Given the description of an element on the screen output the (x, y) to click on. 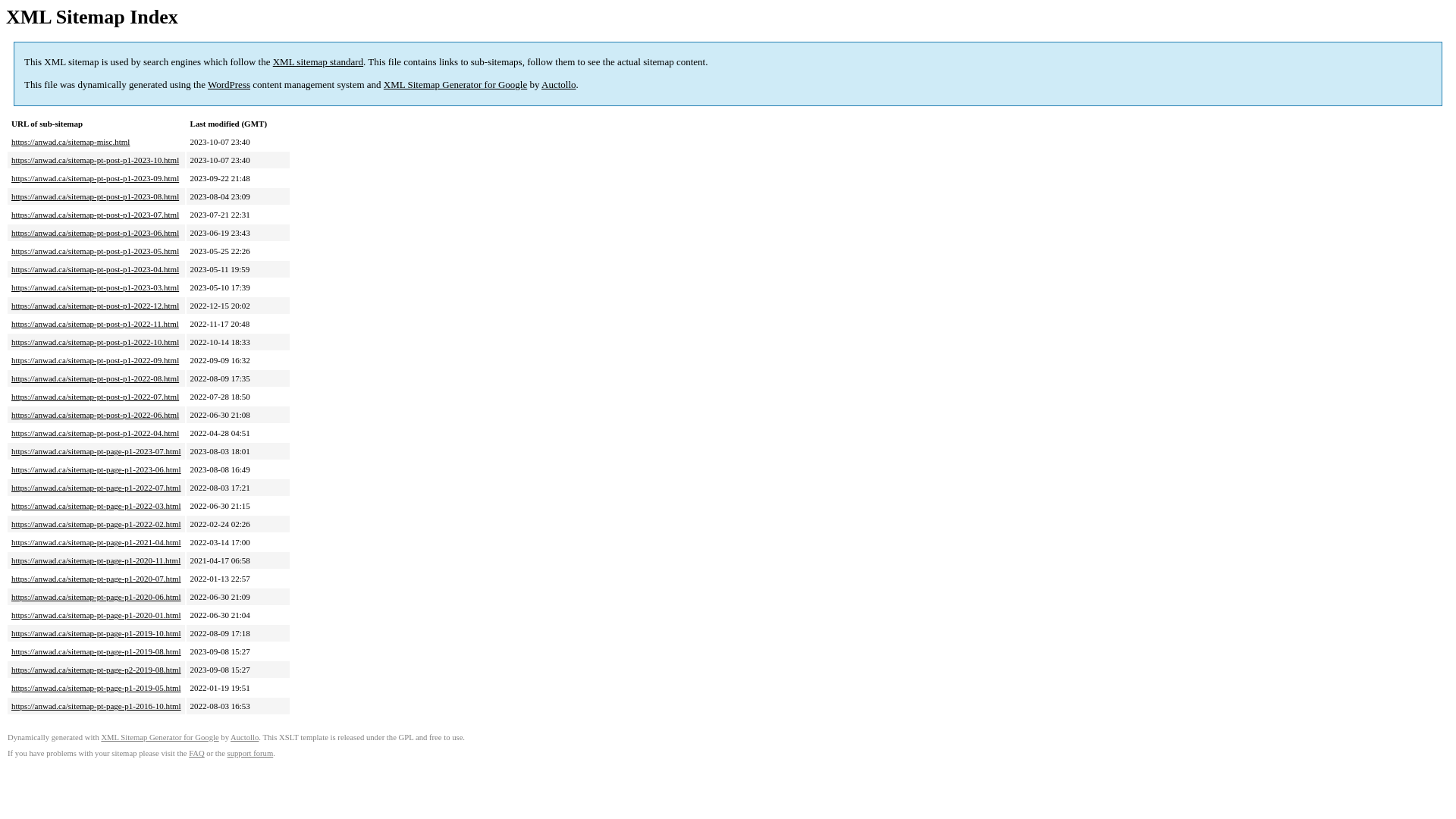
https://anwad.ca/sitemap-pt-page-p1-2021-04.html Element type: text (96, 541)
https://anwad.ca/sitemap-pt-page-p1-2020-07.html Element type: text (96, 578)
https://anwad.ca/sitemap-pt-post-p1-2022-09.html Element type: text (94, 359)
https://anwad.ca/sitemap-pt-post-p1-2023-08.html Element type: text (94, 195)
https://anwad.ca/sitemap-pt-page-p1-2022-02.html Element type: text (96, 523)
https://anwad.ca/sitemap-pt-page-p1-2019-08.html Element type: text (96, 650)
https://anwad.ca/sitemap-pt-post-p1-2022-10.html Element type: text (94, 341)
https://anwad.ca/sitemap-pt-post-p1-2023-04.html Element type: text (94, 268)
https://anwad.ca/sitemap-pt-post-p1-2022-08.html Element type: text (94, 377)
https://anwad.ca/sitemap-pt-page-p1-2023-06.html Element type: text (96, 468)
https://anwad.ca/sitemap-pt-post-p1-2022-06.html Element type: text (94, 414)
https://anwad.ca/sitemap-pt-page-p1-2020-01.html Element type: text (96, 614)
https://anwad.ca/sitemap-pt-page-p1-2016-10.html Element type: text (96, 705)
https://anwad.ca/sitemap-pt-post-p1-2023-10.html Element type: text (94, 159)
https://anwad.ca/sitemap-pt-page-p1-2019-10.html Element type: text (96, 632)
https://anwad.ca/sitemap-pt-page-p1-2020-06.html Element type: text (96, 596)
https://anwad.ca/sitemap-pt-page-p2-2019-08.html Element type: text (96, 669)
https://anwad.ca/sitemap-pt-post-p1-2022-12.html Element type: text (94, 305)
https://anwad.ca/sitemap-pt-post-p1-2022-07.html Element type: text (94, 396)
XML Sitemap Generator for Google Element type: text (455, 84)
https://anwad.ca/sitemap-pt-post-p1-2023-05.html Element type: text (94, 250)
support forum Element type: text (250, 753)
https://anwad.ca/sitemap-pt-post-p1-2022-04.html Element type: text (94, 432)
https://anwad.ca/sitemap-pt-page-p1-2022-03.html Element type: text (96, 505)
https://anwad.ca/sitemap-pt-page-p1-2020-11.html Element type: text (95, 559)
WordPress Element type: text (228, 84)
FAQ Element type: text (196, 753)
https://anwad.ca/sitemap-pt-page-p1-2023-07.html Element type: text (96, 450)
XML Sitemap Generator for Google Element type: text (159, 737)
https://anwad.ca/sitemap-pt-page-p1-2022-07.html Element type: text (96, 487)
https://anwad.ca/sitemap-pt-post-p1-2023-07.html Element type: text (94, 214)
Auctollo Element type: text (558, 84)
https://anwad.ca/sitemap-pt-page-p1-2019-05.html Element type: text (96, 687)
https://anwad.ca/sitemap-pt-post-p1-2022-11.html Element type: text (94, 323)
https://anwad.ca/sitemap-misc.html Element type: text (70, 141)
https://anwad.ca/sitemap-pt-post-p1-2023-09.html Element type: text (94, 177)
https://anwad.ca/sitemap-pt-post-p1-2023-03.html Element type: text (94, 286)
Auctollo Element type: text (244, 737)
https://anwad.ca/sitemap-pt-post-p1-2023-06.html Element type: text (94, 232)
XML sitemap standard Element type: text (318, 61)
